Given the description of an element on the screen output the (x, y) to click on. 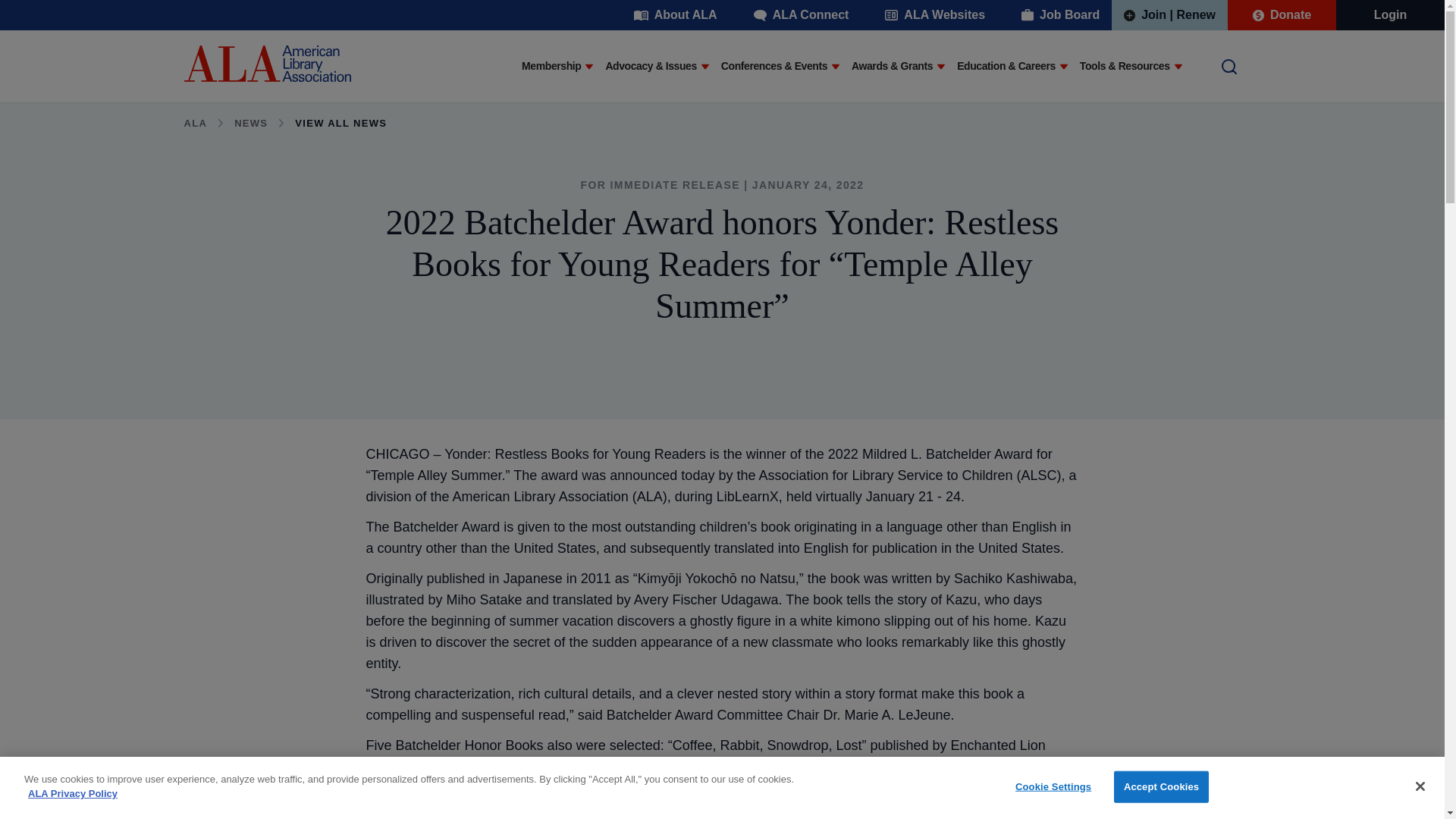
Donate (1281, 15)
About ALA (675, 15)
Login (1390, 15)
ALA Websites (934, 15)
ALA Connect (801, 15)
Membership (550, 66)
Login (1390, 15)
About ALA (675, 15)
ALA Websites (934, 15)
Job Board (1060, 15)
Membership (550, 66)
Job Board (1060, 15)
ALA Connect (801, 15)
Donate (1281, 15)
